Given the description of an element on the screen output the (x, y) to click on. 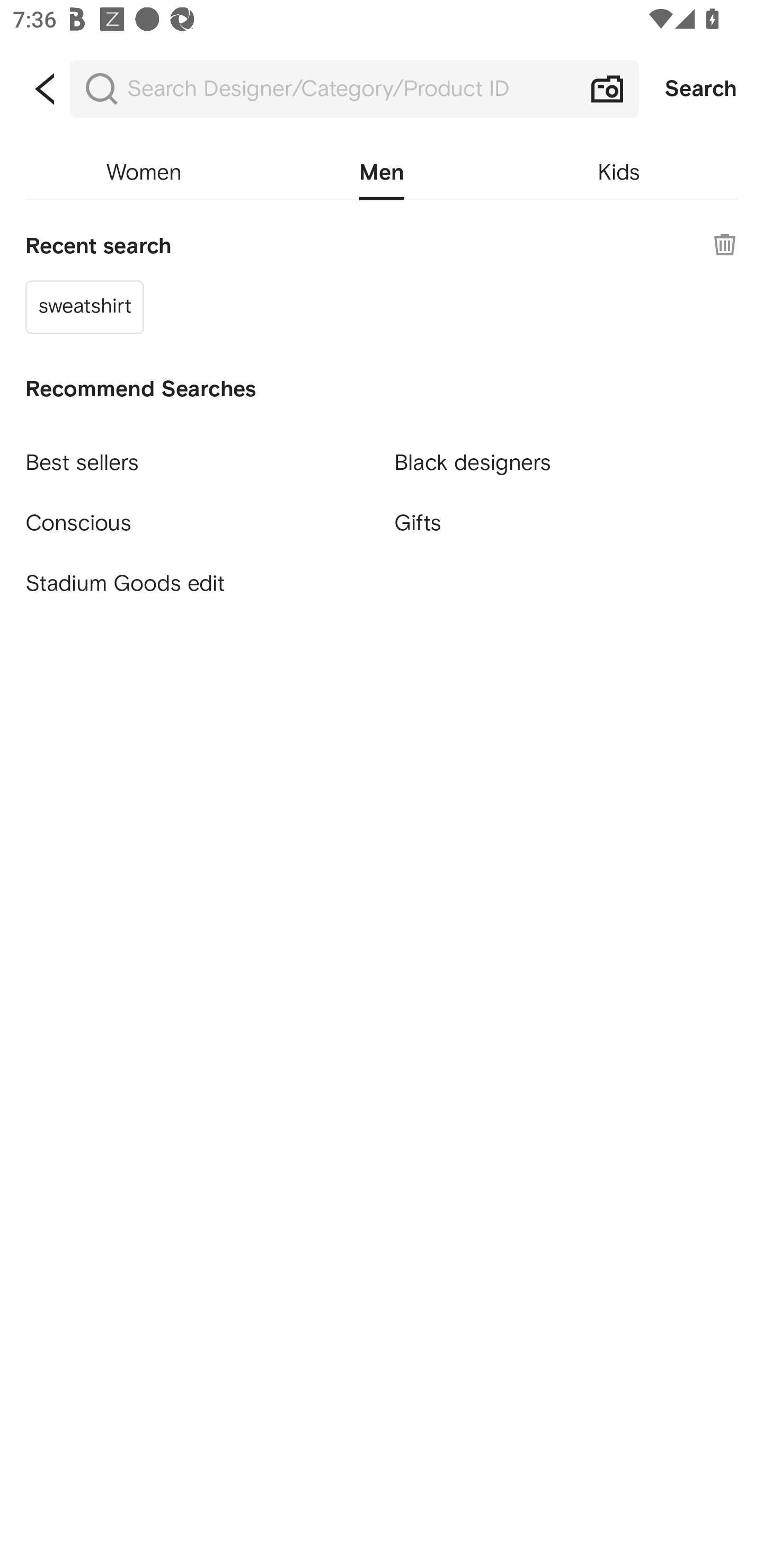
Search Designer/Category/Product ID (354, 89)
Search (701, 89)
Women (143, 172)
Kids (618, 172)
sweatshirt (84, 306)
Best sellers (196, 454)
Black designers (565, 454)
Conscious (196, 514)
Gifts (565, 522)
Stadium Goods edit (196, 583)
